Given the description of an element on the screen output the (x, y) to click on. 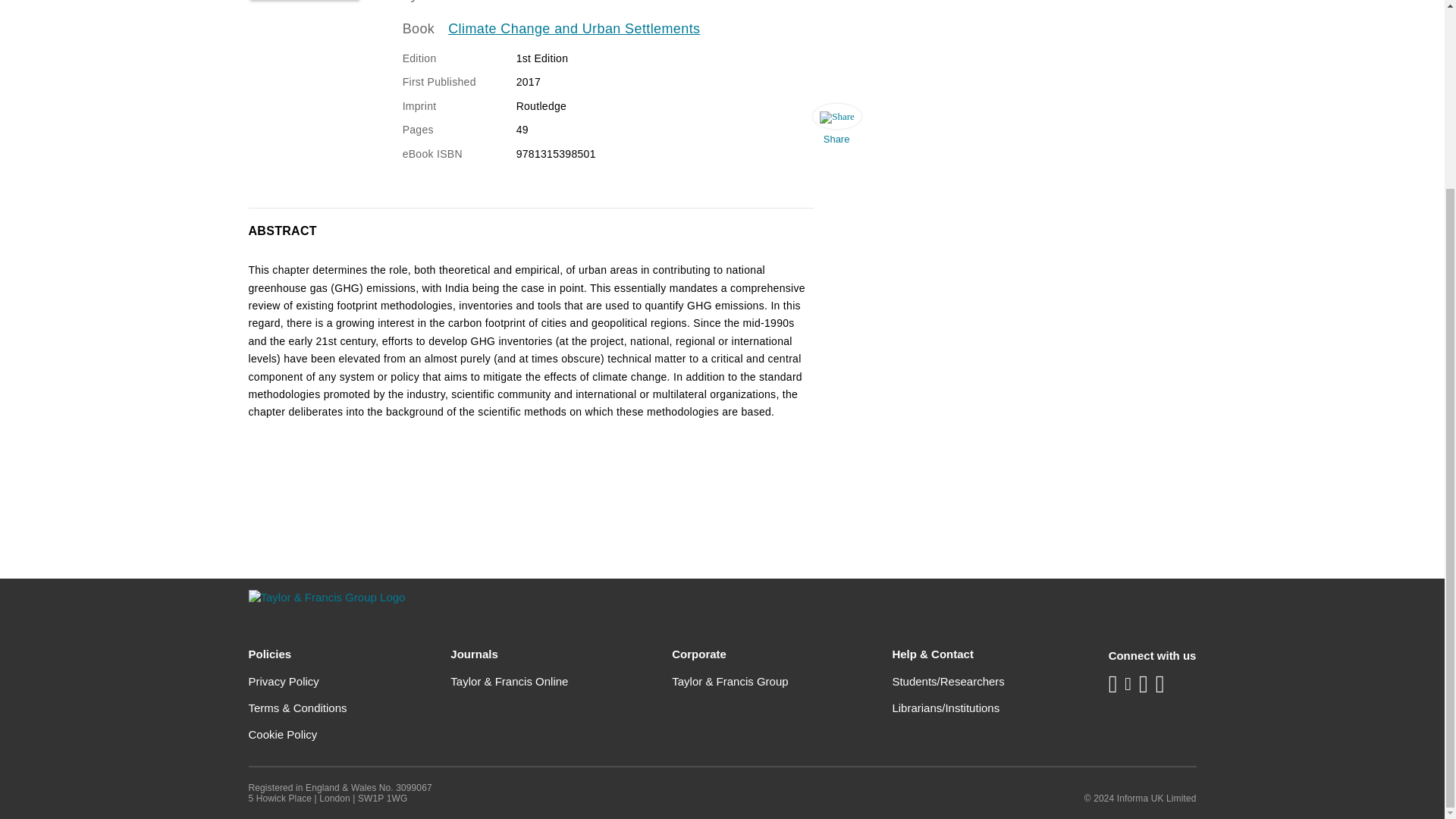
Climate Change and Urban Settlements (574, 29)
Share (836, 127)
Mahendra Sethi (472, 1)
Cookie Policy (282, 734)
Privacy Policy (283, 681)
